Given the description of an element on the screen output the (x, y) to click on. 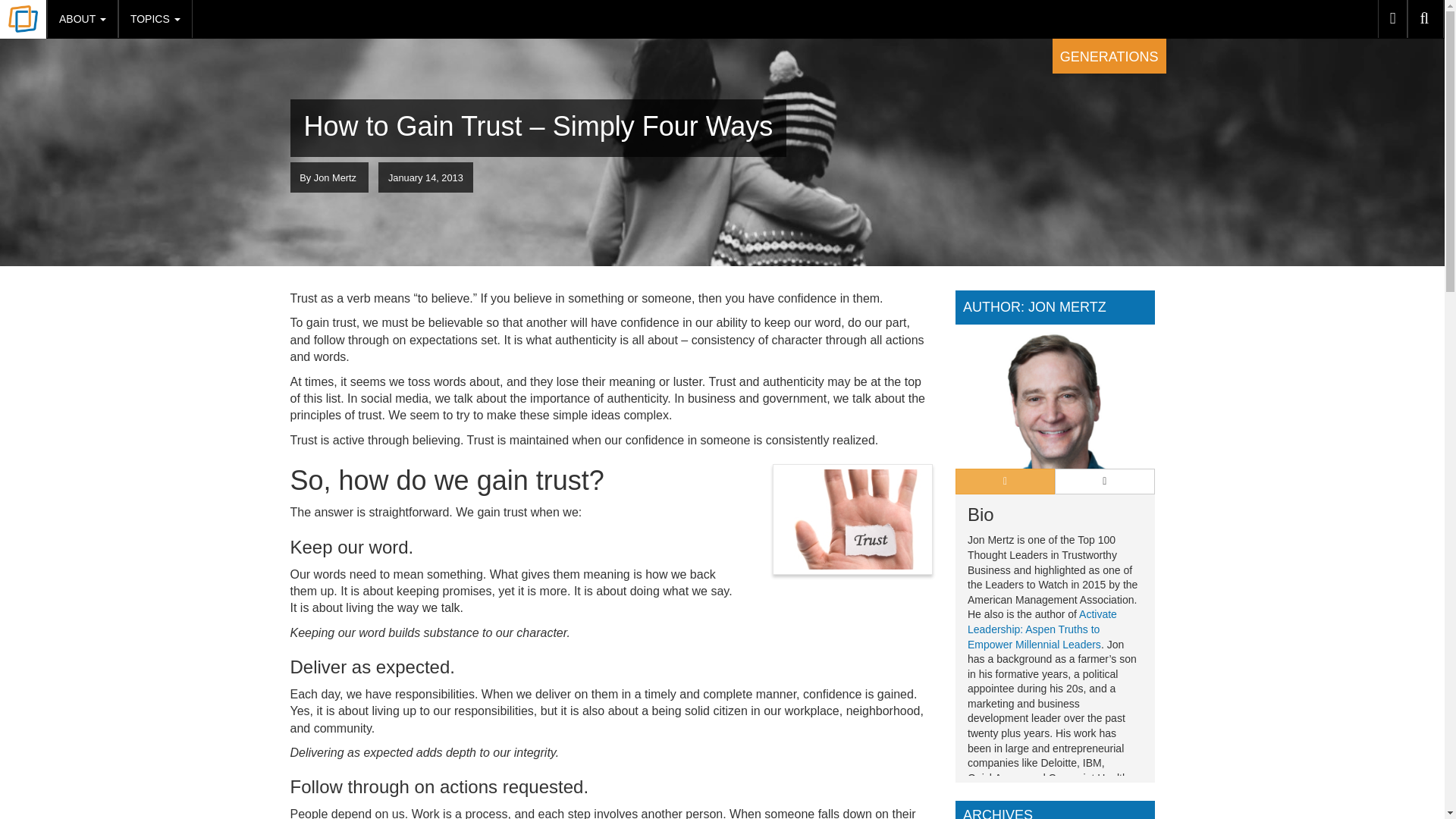
JON MERTZ (1066, 306)
Topics (154, 18)
Thin Difference (23, 19)
 SEARCH (1425, 18)
TOPICS (154, 18)
Search (1425, 18)
GENERATIONS (1108, 56)
ABOUT (81, 18)
About (81, 18)
Jon Mertz (335, 177)
